Given the description of an element on the screen output the (x, y) to click on. 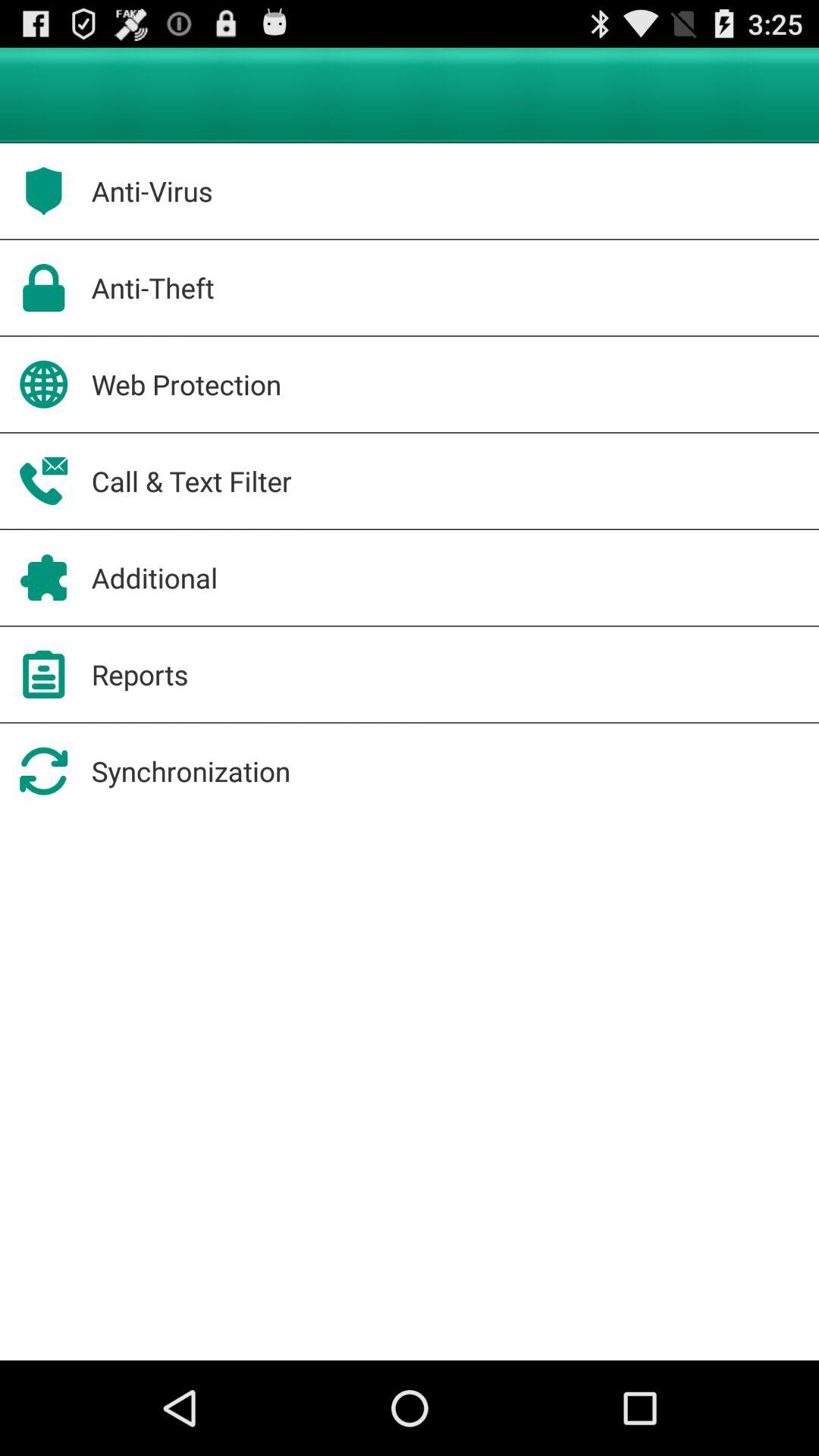
click app above anti-theft app (151, 190)
